Given the description of an element on the screen output the (x, y) to click on. 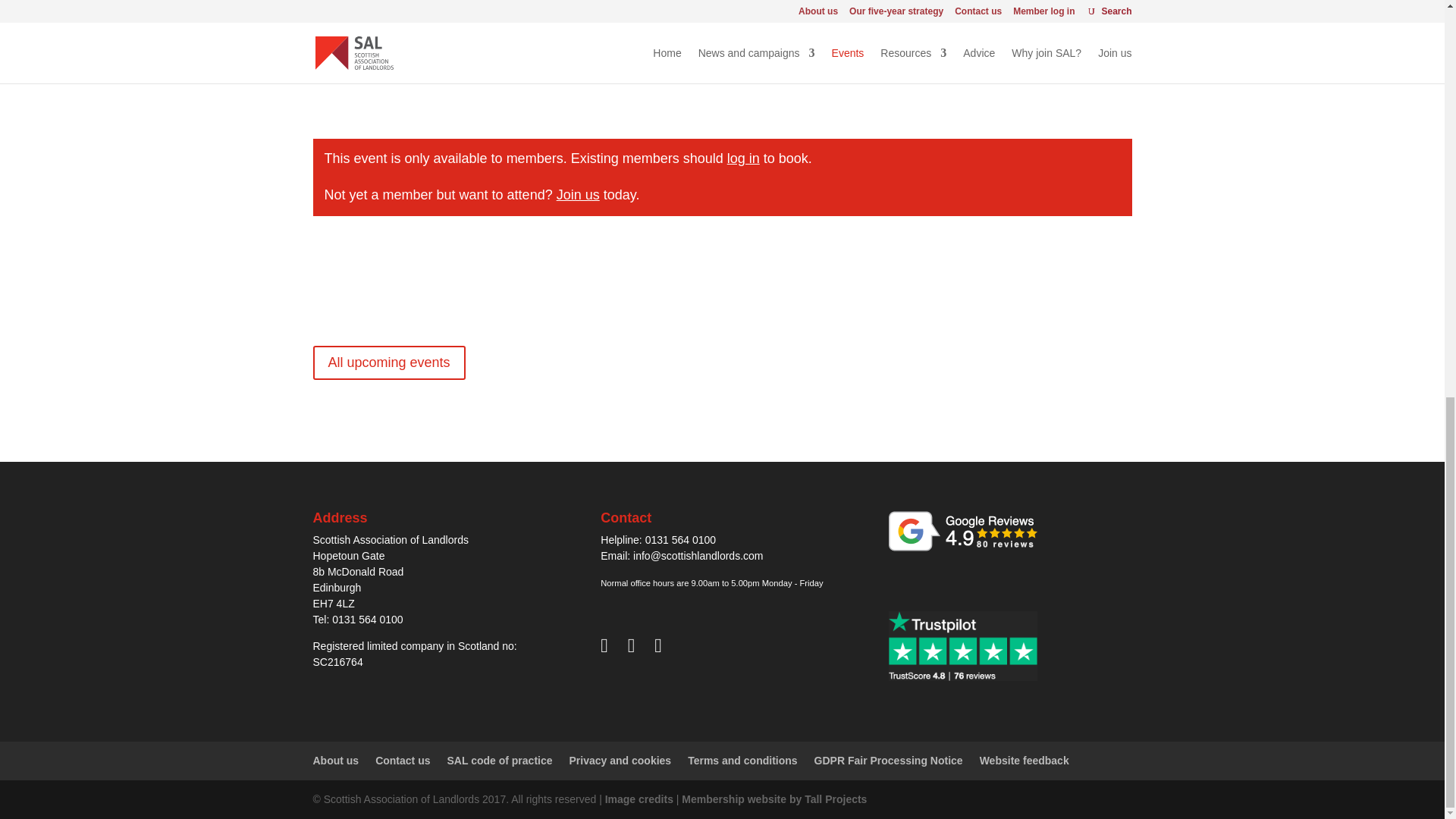
All upcoming events (388, 362)
0131 564 0100 (680, 539)
homeenergyscotland.org (648, 39)
0131 564 0100 (367, 619)
About us (335, 760)
Join us (577, 194)
SAL code of practice (499, 760)
log in (743, 158)
Privacy and cookies (620, 760)
Contact us (402, 760)
